Given the description of an element on the screen output the (x, y) to click on. 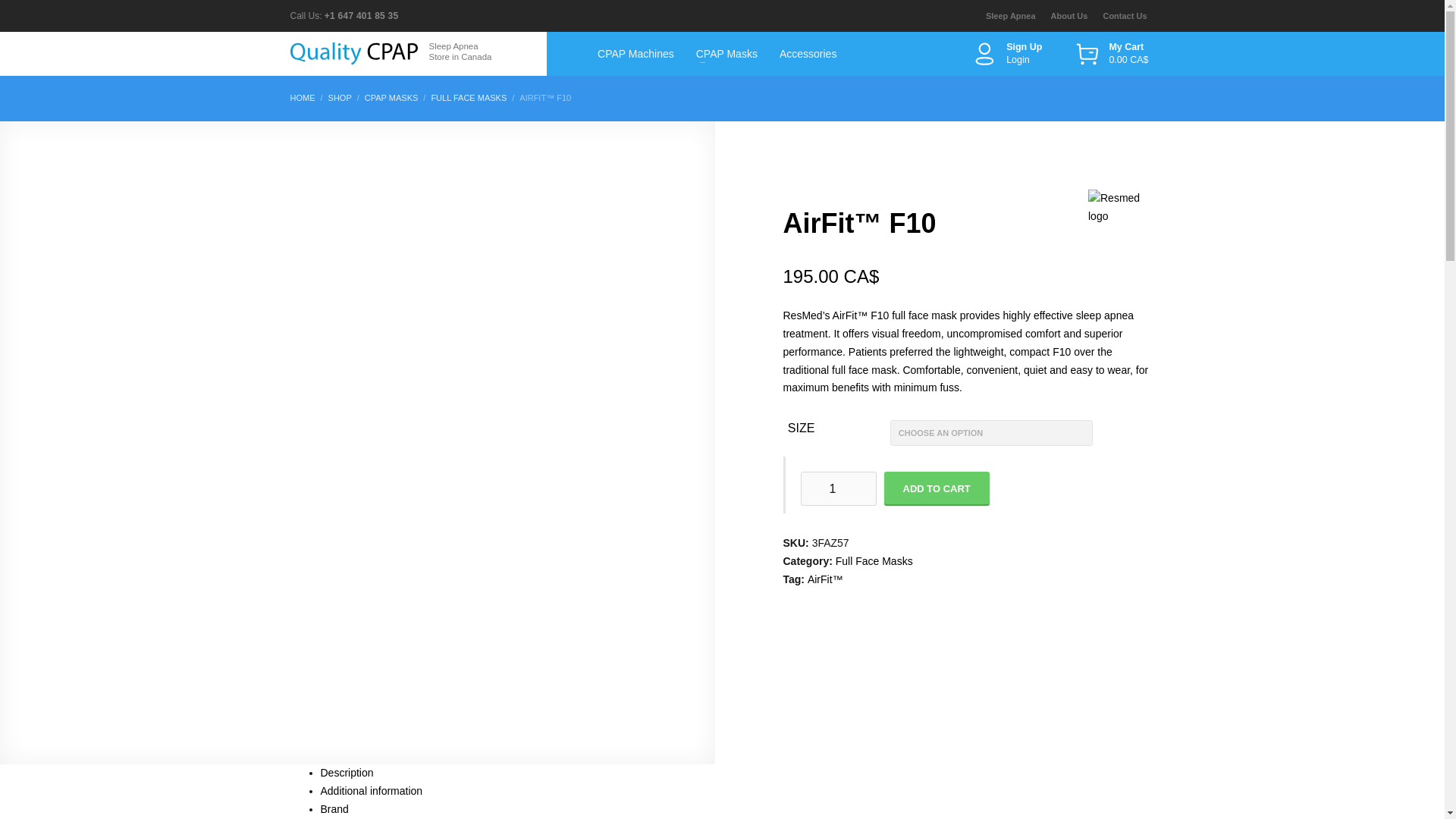
ResMed (1117, 205)
CPAP MASKS (392, 97)
FULL FACE MASKS (468, 97)
HOME (301, 97)
About Us (1069, 15)
SHOP (340, 97)
CPAP Machines (635, 53)
Accessories (807, 53)
Login (1024, 60)
Sleep Apnea (1010, 15)
